Given the description of an element on the screen output the (x, y) to click on. 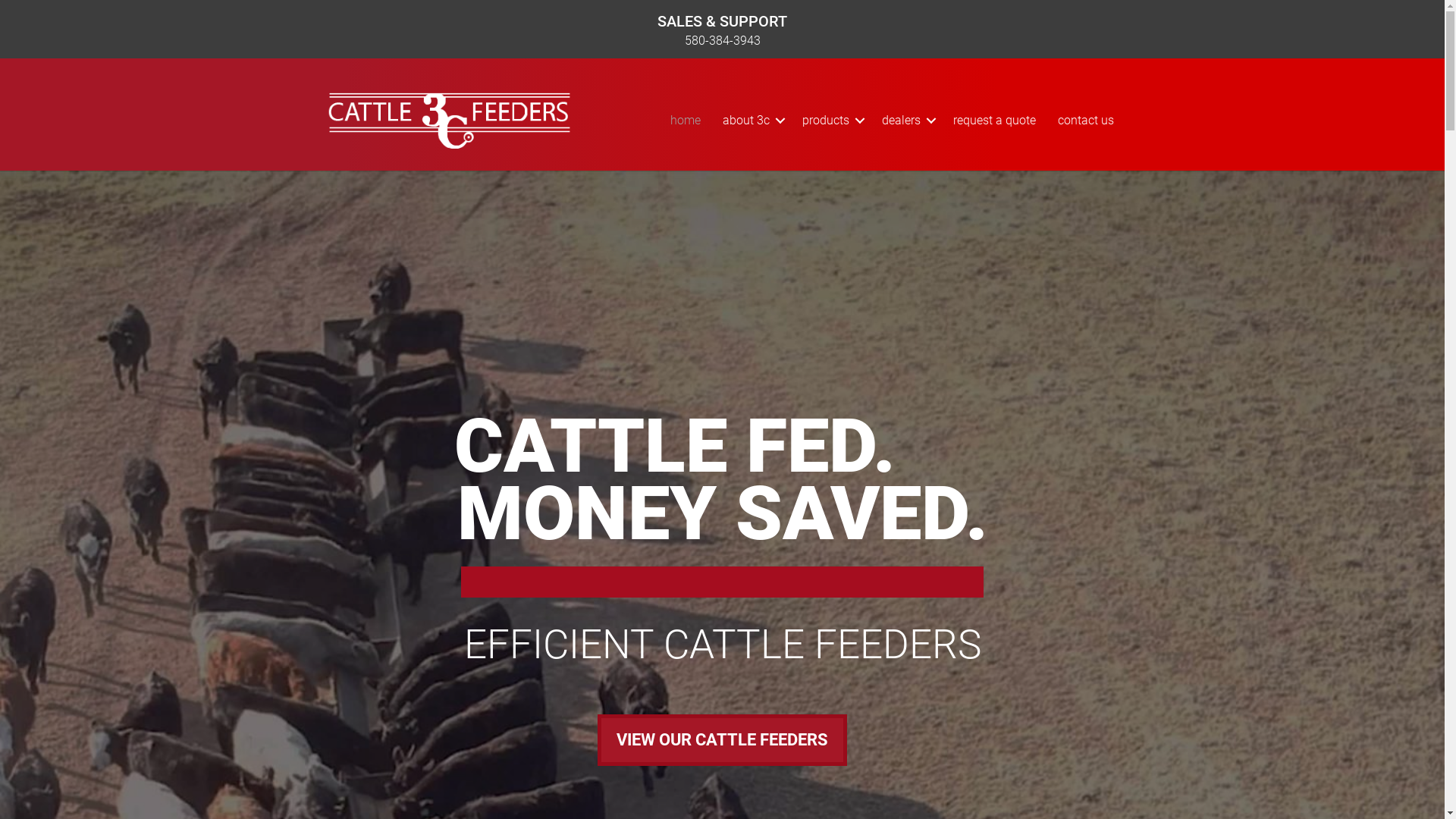
samplogo_WHITE Element type: hover (450, 119)
EFFICIENT CATTLE FEEDERS Element type: text (722, 644)
about 3c Element type: text (750, 119)
580-384-3943 Element type: text (721, 40)
products Element type: text (830, 119)
VIEW OUR CATTLE FEEDERS Element type: text (722, 739)
dealers Element type: text (905, 119)
home Element type: text (685, 119)
request a quote Element type: text (993, 119)
contact us Element type: text (1084, 119)
